Given the description of an element on the screen output the (x, y) to click on. 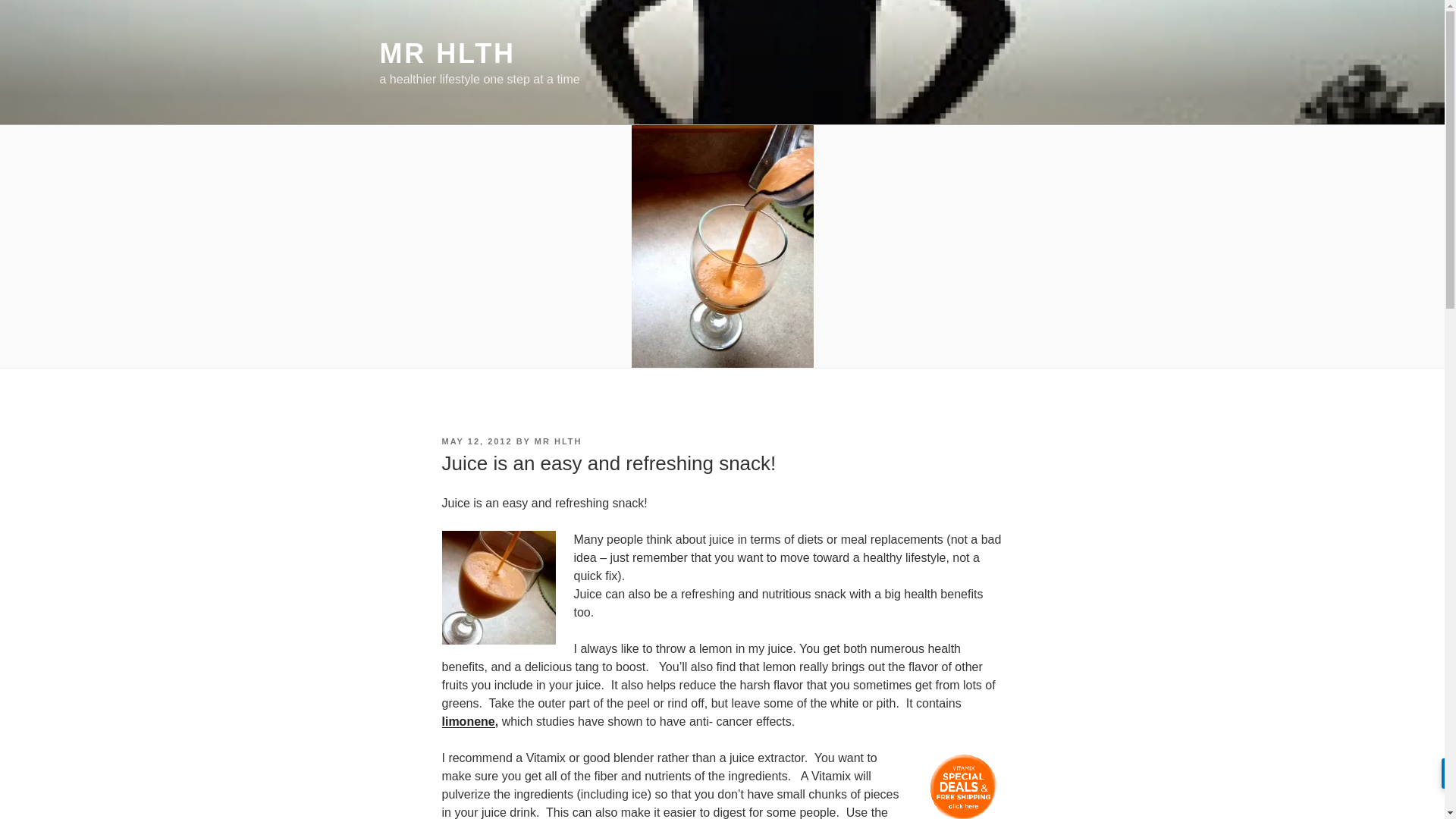
Free shipping from Vitamix when you click here (963, 784)
MR HLTH (558, 440)
limonene (468, 721)
MR HLTH (446, 52)
MAY 12, 2012 (476, 440)
